Given the description of an element on the screen output the (x, y) to click on. 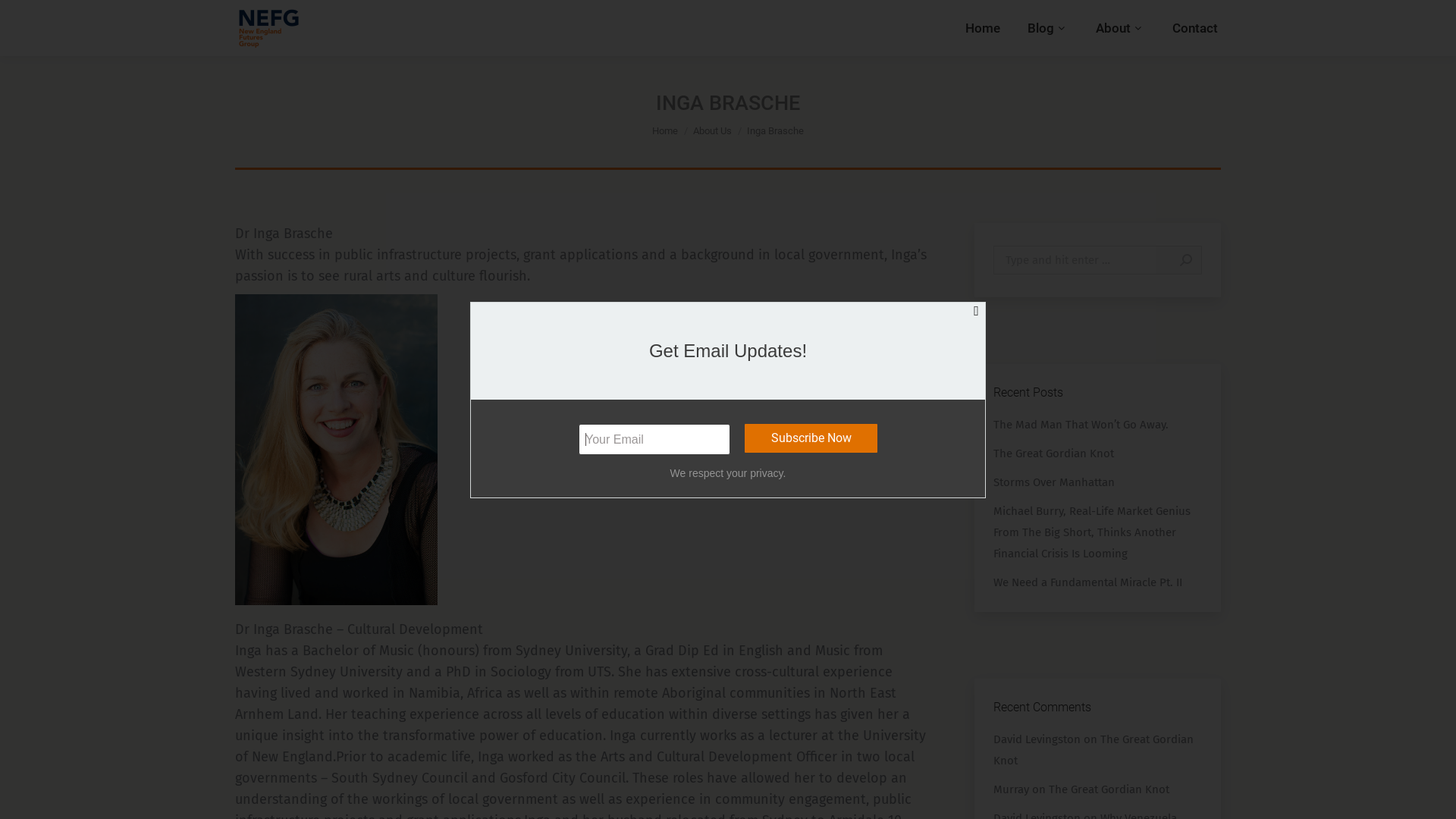
The Great Gordian Knot Element type: text (1053, 453)
Subscribe Now Element type: text (810, 437)
Storms Over Manhattan Element type: text (1053, 481)
The Great Gordian Knot Element type: text (1108, 789)
Blog Element type: text (1047, 27)
Contact Element type: text (1194, 27)
Home Element type: text (982, 27)
About Element type: text (1120, 27)
Home Element type: text (664, 129)
About Us Element type: text (712, 129)
We Need a Fundamental Miracle Pt. II Element type: text (1087, 582)
Go! Element type: text (1178, 259)
The Great Gordian Knot Element type: text (1093, 749)
